Given the description of an element on the screen output the (x, y) to click on. 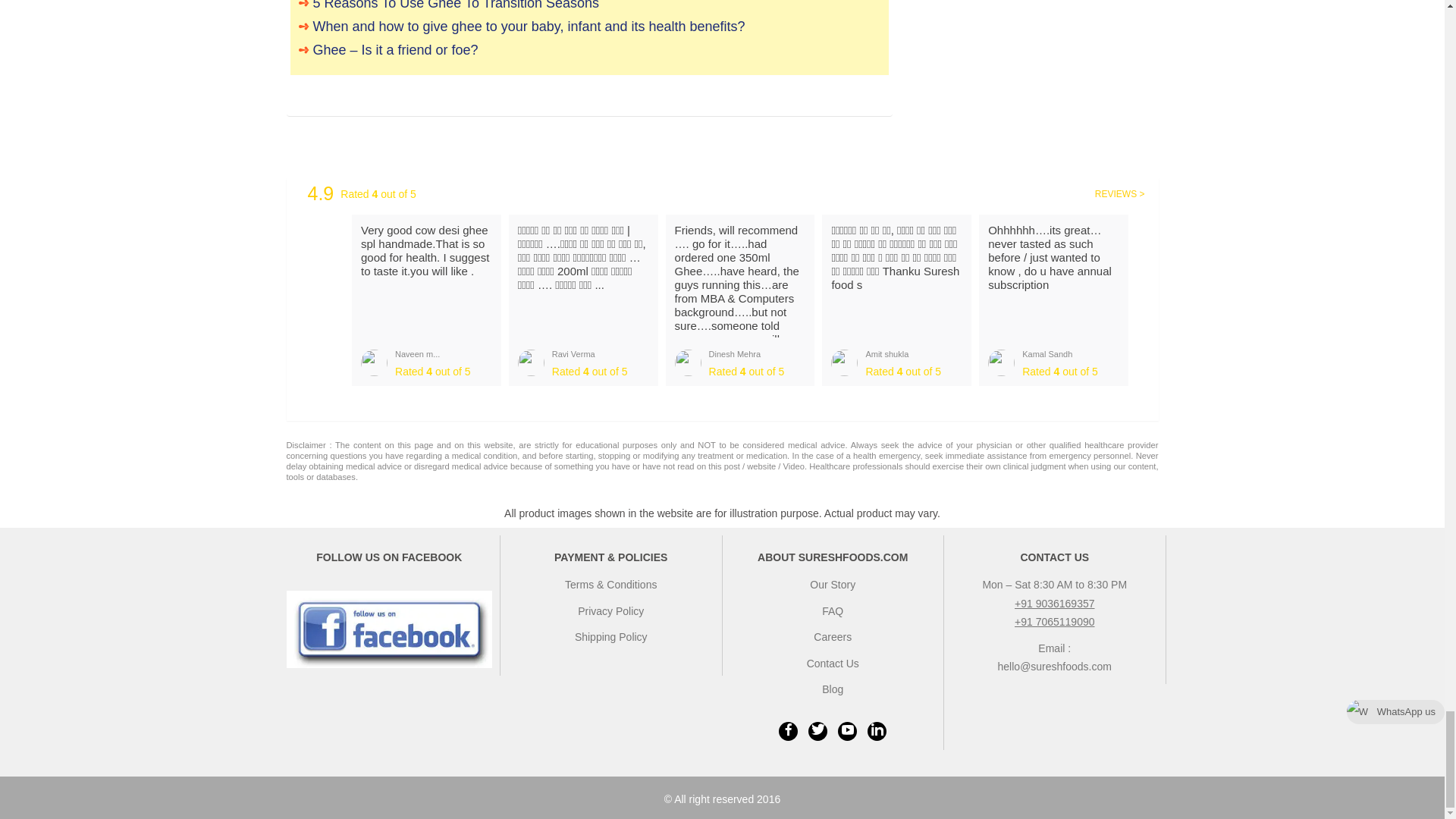
Privacy Policy (610, 611)
Careers (832, 636)
Our Story (832, 584)
Follow Us on Facebook (389, 628)
Shipping Policy (611, 636)
FAQ (832, 611)
Contact Us (832, 663)
Blog (832, 689)
Facebook (787, 731)
